Given the description of an element on the screen output the (x, y) to click on. 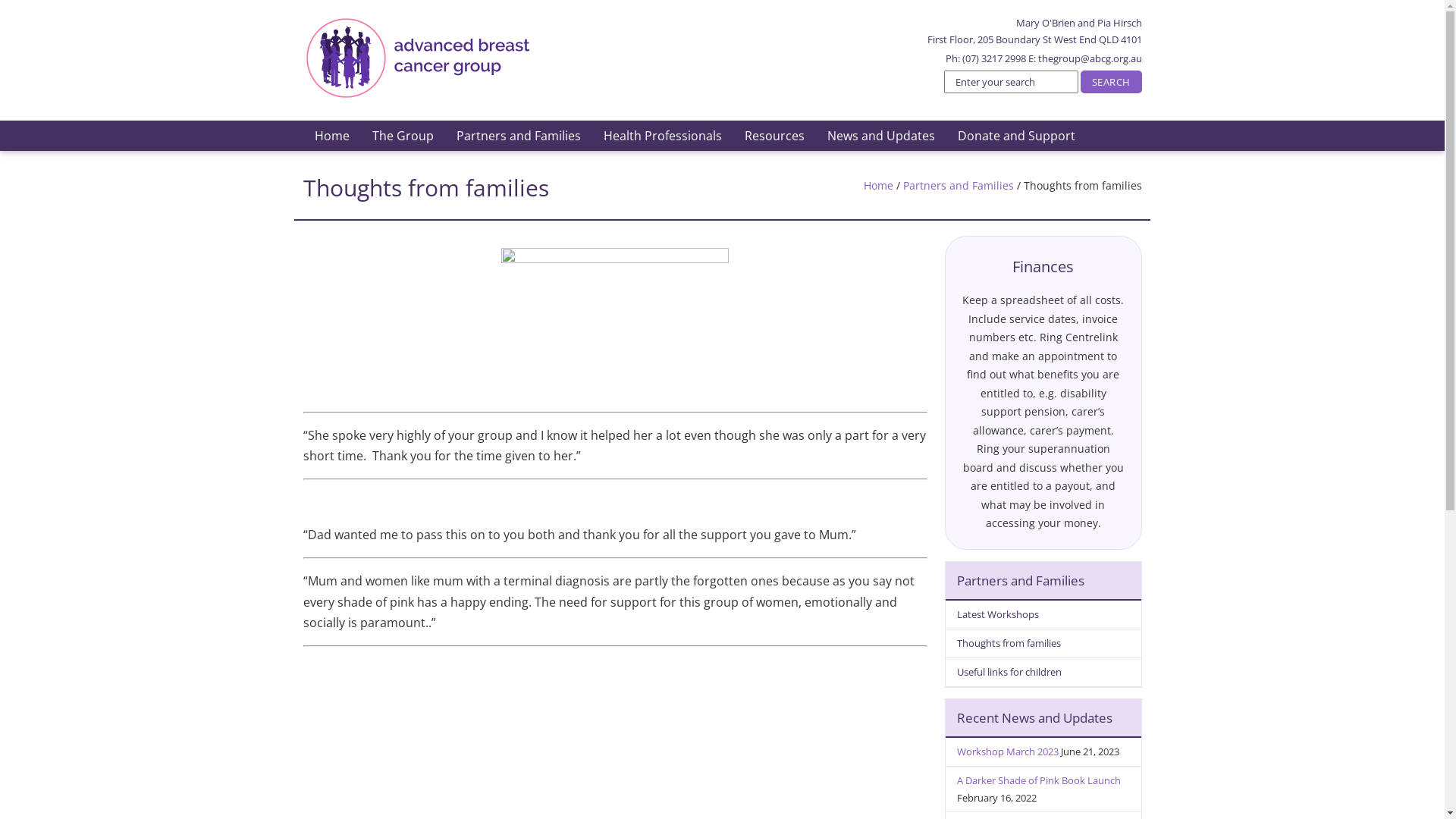
Resources Element type: text (773, 135)
Workshop March 2023 Element type: text (1007, 751)
A Darker Shade of Pink Book Launch Element type: text (1038, 780)
News and Updates Element type: text (880, 135)
Latest Workshops Element type: text (1043, 614)
thegroup@abcg.org.au Element type: text (1089, 58)
Useful links for children Element type: text (1043, 672)
Home Element type: text (331, 135)
Donate and Support Element type: text (1016, 135)
Home Element type: text (877, 185)
Partners and Families Element type: text (957, 185)
Search Element type: text (1111, 81)
Partners and Families Element type: text (517, 135)
The Group Element type: text (402, 135)
Health Professionals Element type: text (661, 135)
Thoughts from families Element type: text (1043, 643)
